Given the description of an element on the screen output the (x, y) to click on. 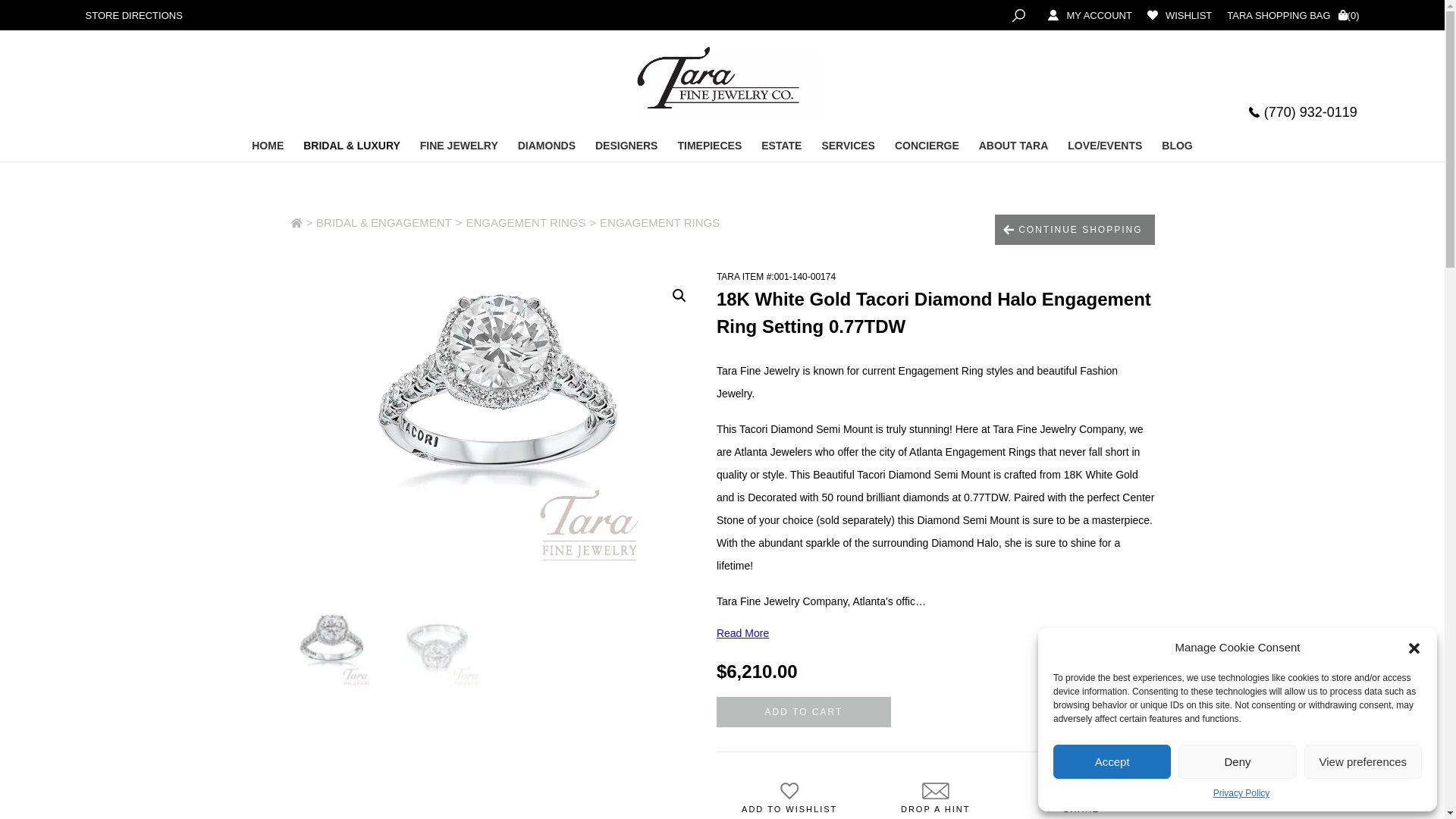
Deny (1236, 761)
Accept (1111, 761)
FINE JEWELRY (459, 147)
WISHLIST (1171, 15)
HOME (267, 147)
MY ACCOUNT (1081, 15)
STORE DIRECTIONS (133, 15)
View preferences (1363, 761)
Privacy Policy (1240, 793)
140-00174.jpg (496, 425)
